Given the description of an element on the screen output the (x, y) to click on. 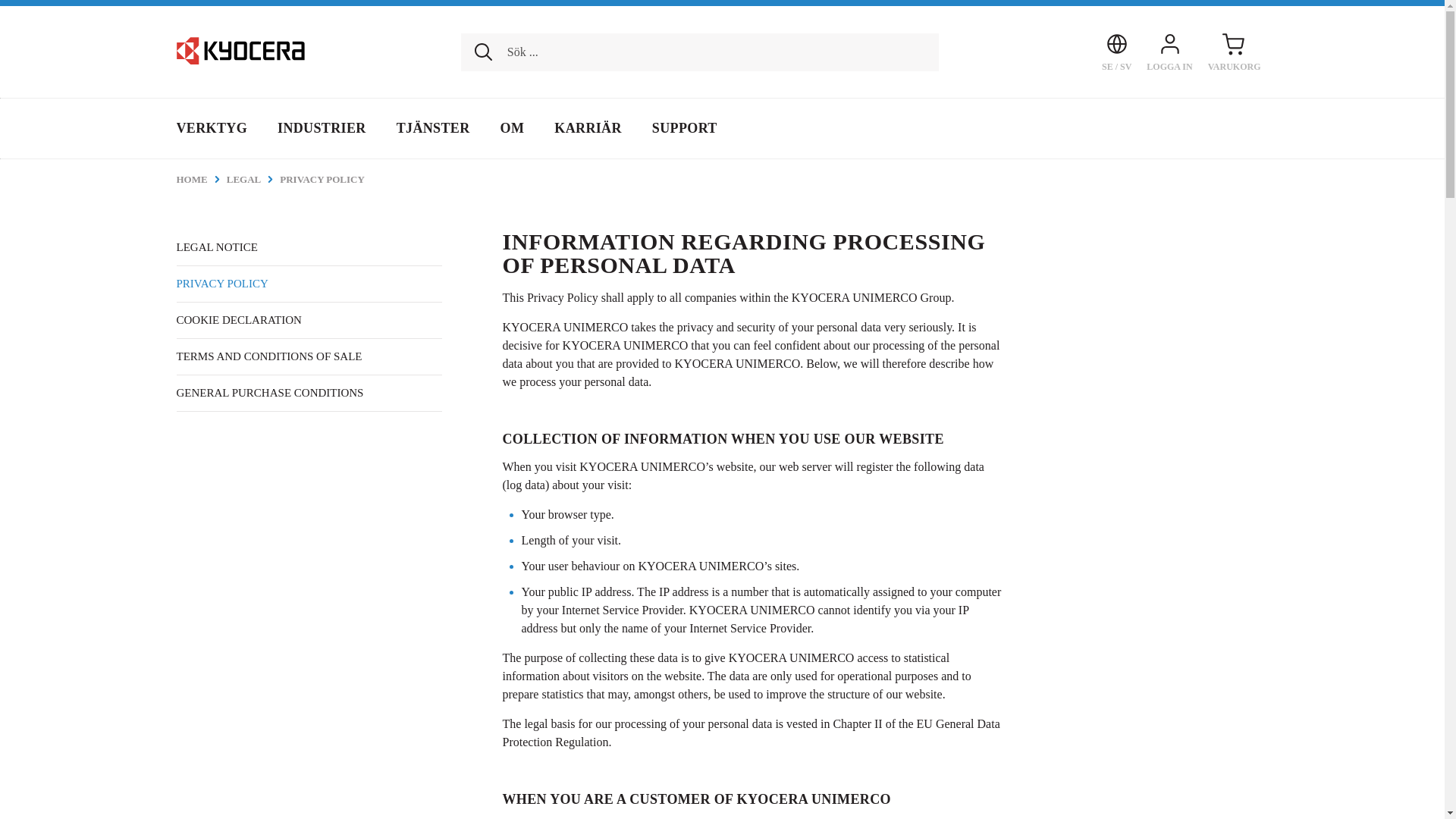
PRIVACY POLICY (308, 284)
LOGGA IN (1168, 52)
VARUKORG (1233, 52)
LEGAL NOTICE (308, 247)
COOKIE DECLARATION (308, 320)
Privacy policy (322, 179)
LEGAL (254, 179)
PRIVACY POLICY (322, 179)
GENERAL PURCHASE CONDITIONS (308, 393)
VERKTYG (219, 128)
OM (512, 128)
SUPPORT (684, 128)
TERMS AND CONDITIONS OF SALE (308, 356)
Home (200, 179)
Legal (254, 179)
